Given the description of an element on the screen output the (x, y) to click on. 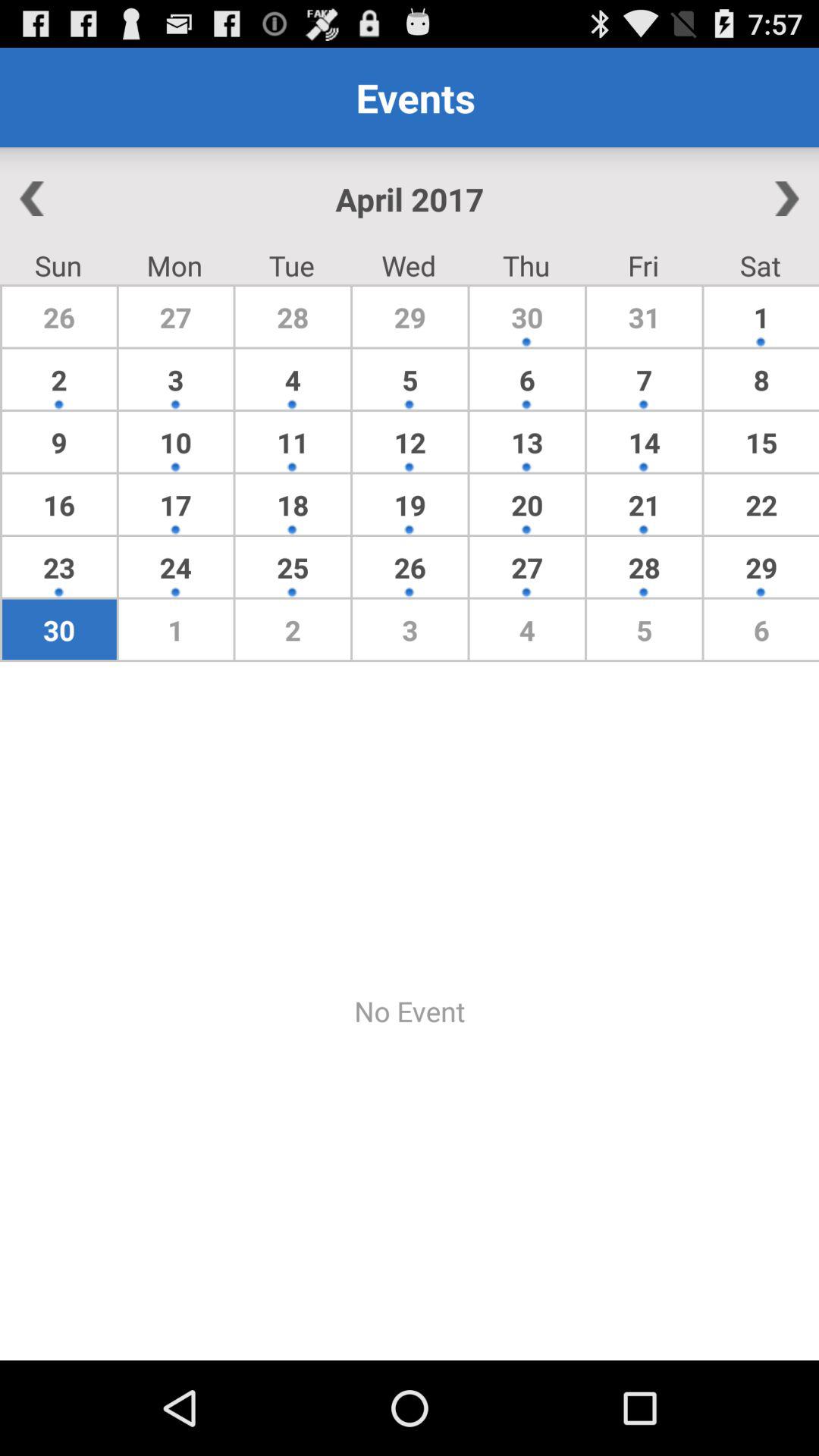
press the item next to 15 (643, 504)
